Given the description of an element on the screen output the (x, y) to click on. 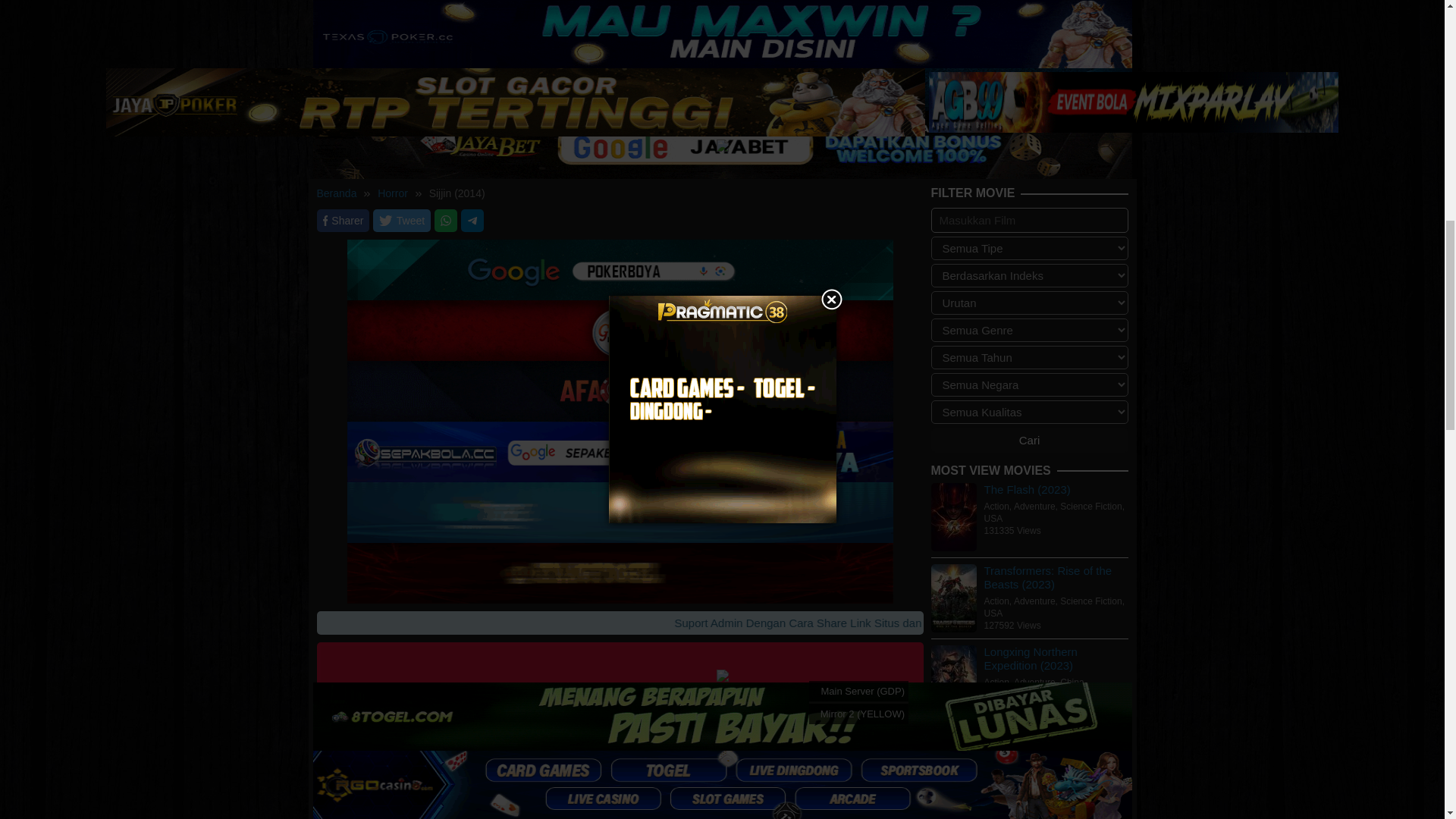
Cari (1029, 439)
